Given the description of an element on the screen output the (x, y) to click on. 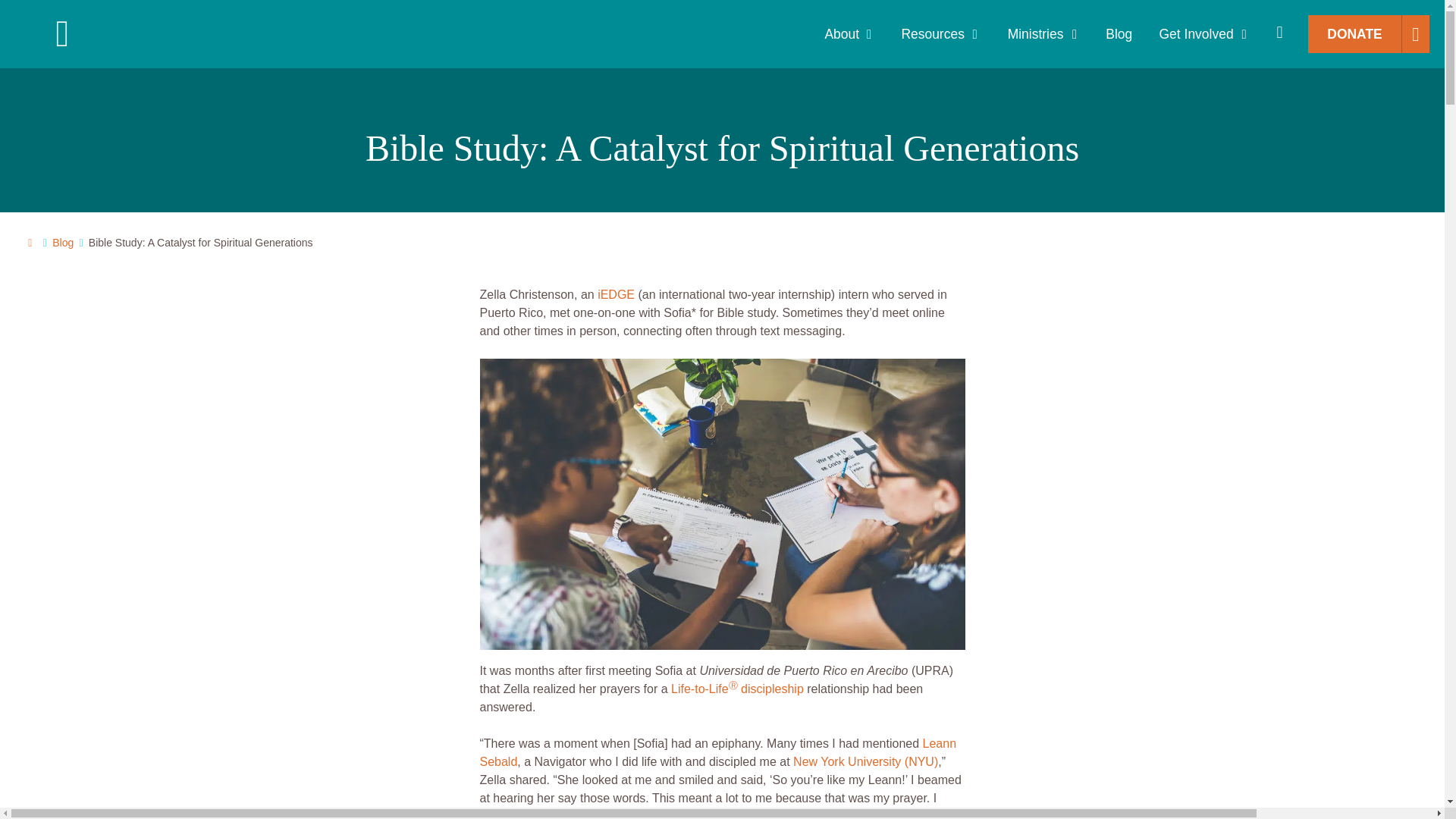
Search (22, 22)
About (841, 33)
Resources (931, 33)
Blog (1118, 33)
Search (1279, 34)
Search The Navigators' (1279, 34)
Read our Blog (63, 242)
Go Home (30, 242)
DONATE (1353, 34)
Get Involved (1195, 33)
Ministries (1035, 33)
The Navigators (153, 34)
The Navigators Home (153, 34)
